Given the description of an element on the screen output the (x, y) to click on. 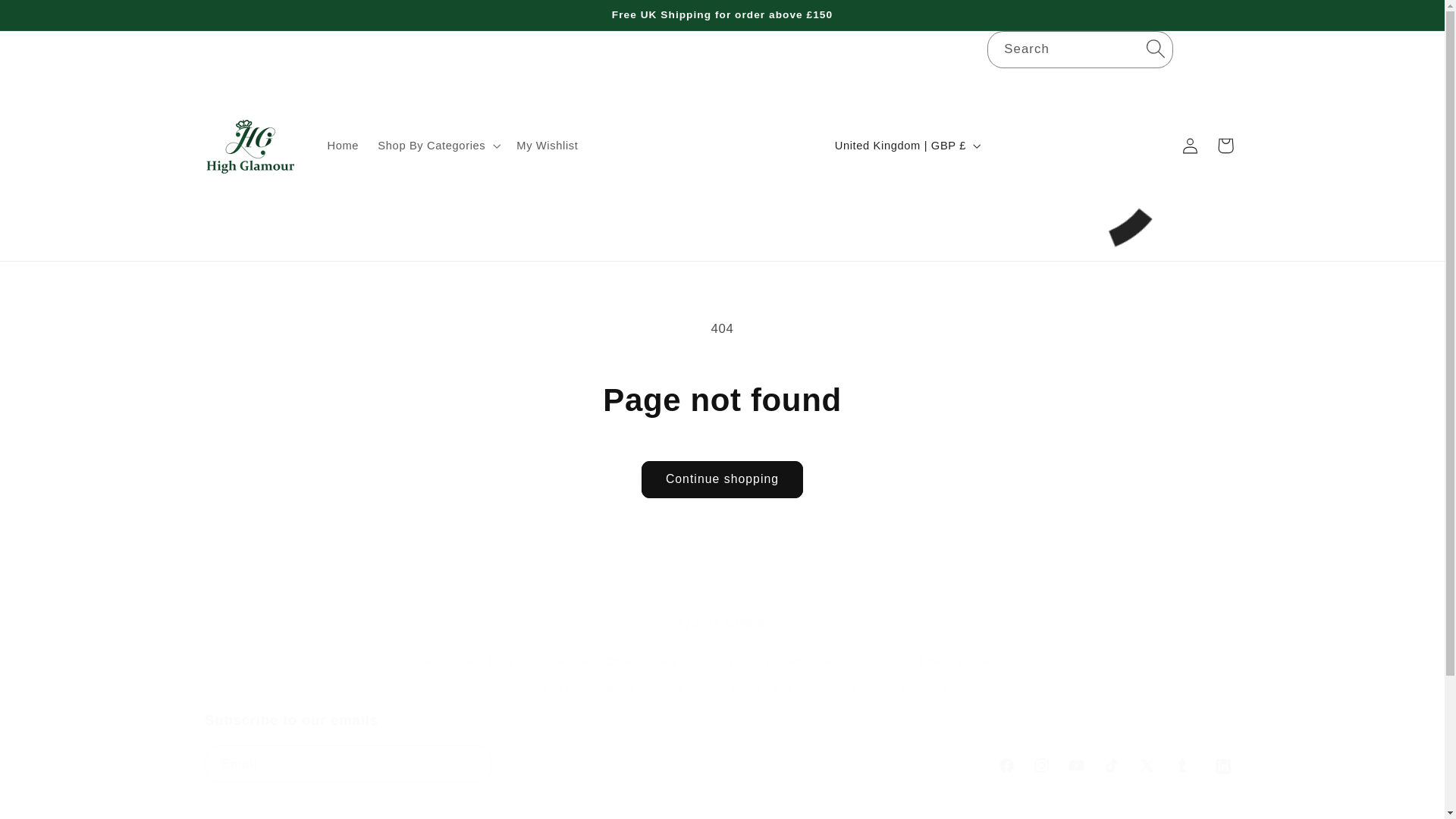
Skip to content (48, 18)
